Given the description of an element on the screen output the (x, y) to click on. 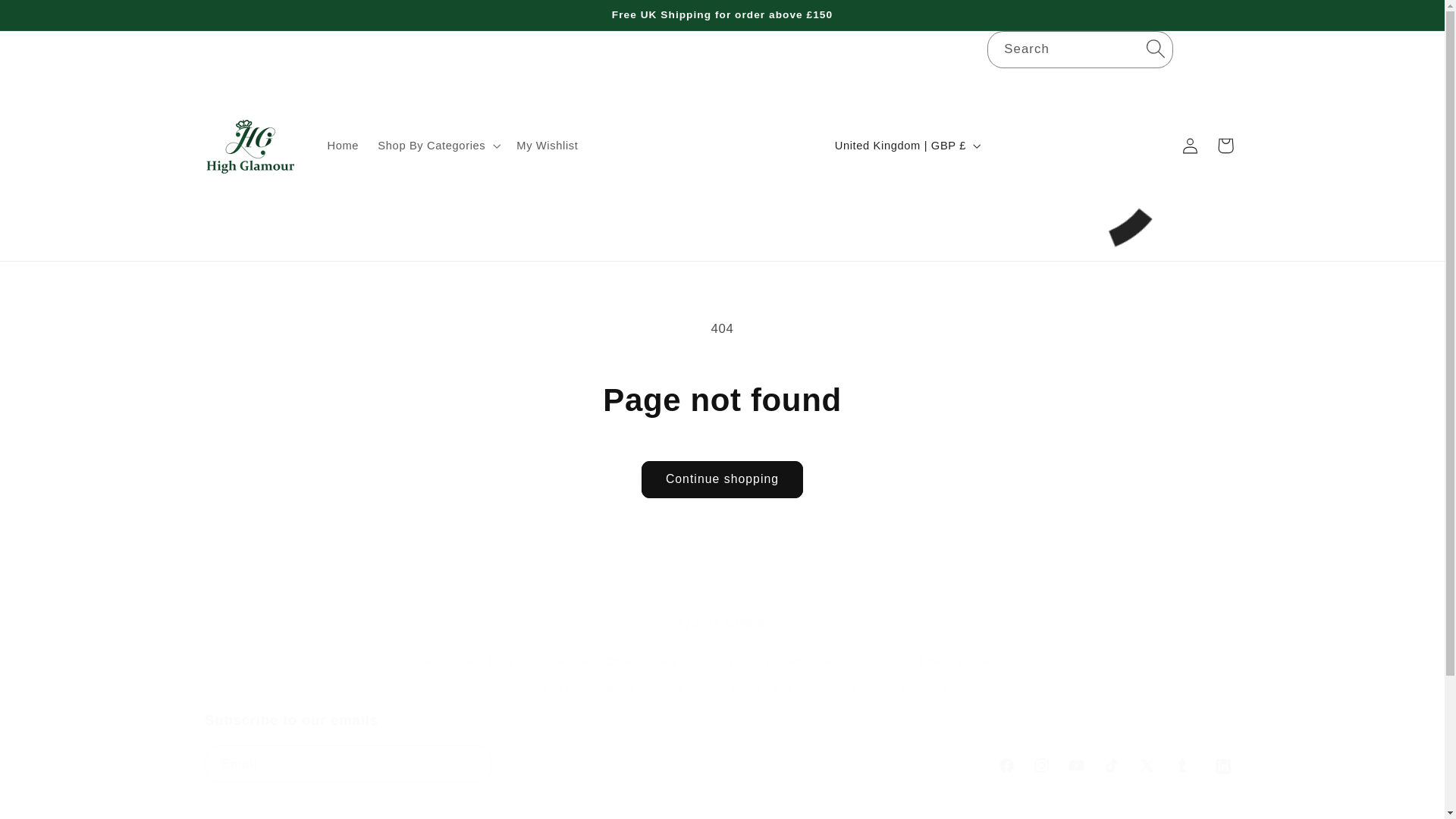
Skip to content (48, 18)
